Given the description of an element on the screen output the (x, y) to click on. 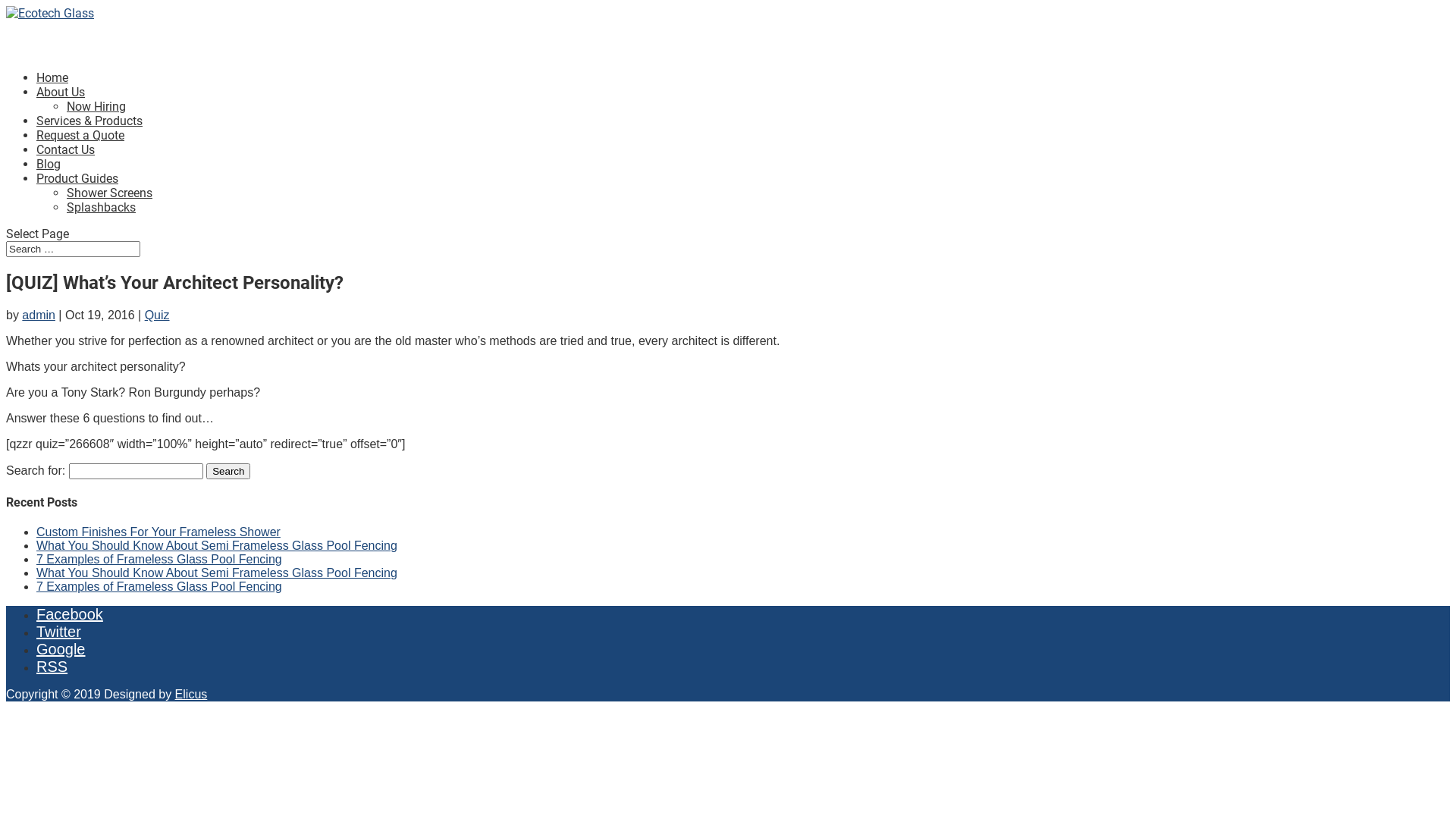
admin Element type: text (38, 314)
Custom Finishes For Your Frameless Shower Element type: text (158, 531)
About Us Element type: text (60, 110)
Now Hiring Element type: text (95, 106)
Elicus Element type: text (191, 693)
Services & Products Element type: text (89, 139)
Splashbacks Element type: text (100, 207)
Quiz Element type: text (156, 314)
Twitter Element type: text (58, 631)
Contact Us Element type: text (65, 168)
What You Should Know About Semi Frameless Glass Pool Fencing Element type: text (216, 545)
Search for: Element type: hover (73, 249)
Shower Screens Element type: text (109, 192)
7 Examples of Frameless Glass Pool Fencing Element type: text (159, 586)
What You Should Know About Semi Frameless Glass Pool Fencing Element type: text (216, 572)
Facebook Element type: text (69, 613)
Home Element type: text (52, 96)
Search Element type: text (228, 471)
Product Guides Element type: text (77, 197)
RSS Element type: text (51, 666)
7 Examples of Frameless Glass Pool Fencing Element type: text (159, 558)
Google Element type: text (60, 648)
Request a Quote Element type: text (80, 154)
Blog Element type: text (48, 182)
